Given the description of an element on the screen output the (x, y) to click on. 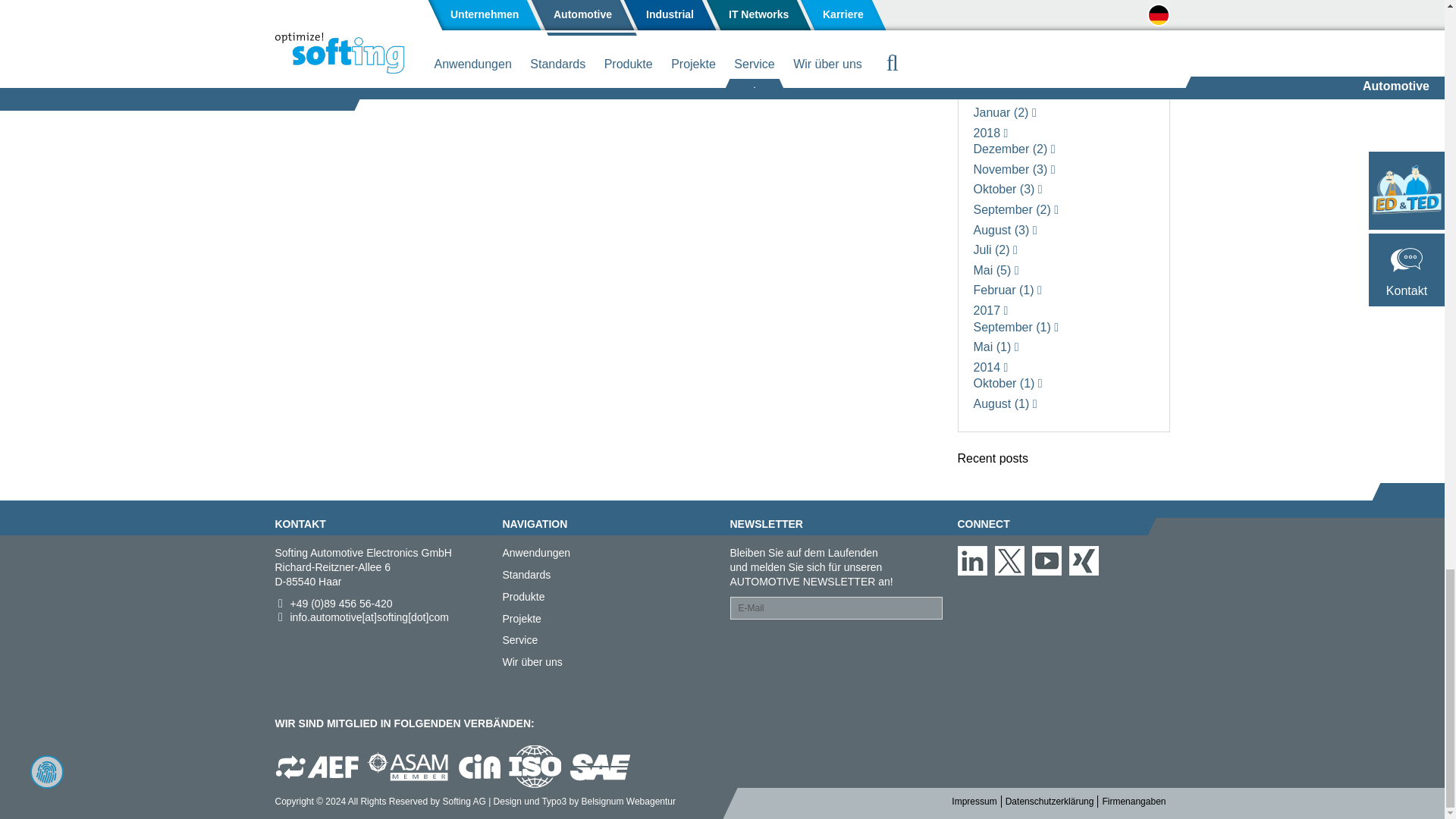
E-Mail (835, 608)
